Given the description of an element on the screen output the (x, y) to click on. 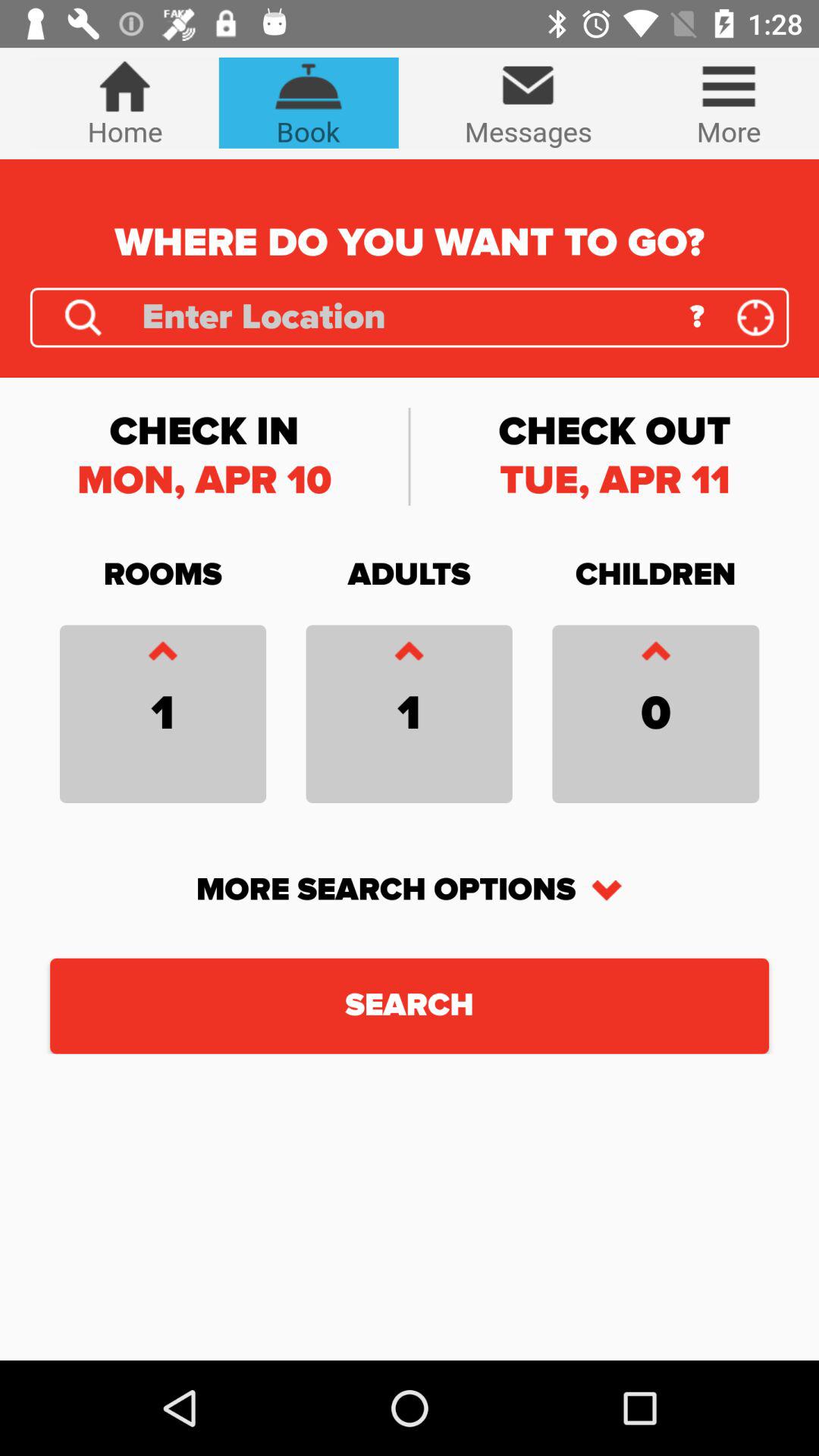
click on enter location (405, 317)
select the icon which is right of the messages (728, 103)
select the second app in the first row (308, 103)
click on caret symbol which is below adults (409, 654)
select the last icon which is below the text where do want to go (755, 317)
